Given the description of an element on the screen output the (x, y) to click on. 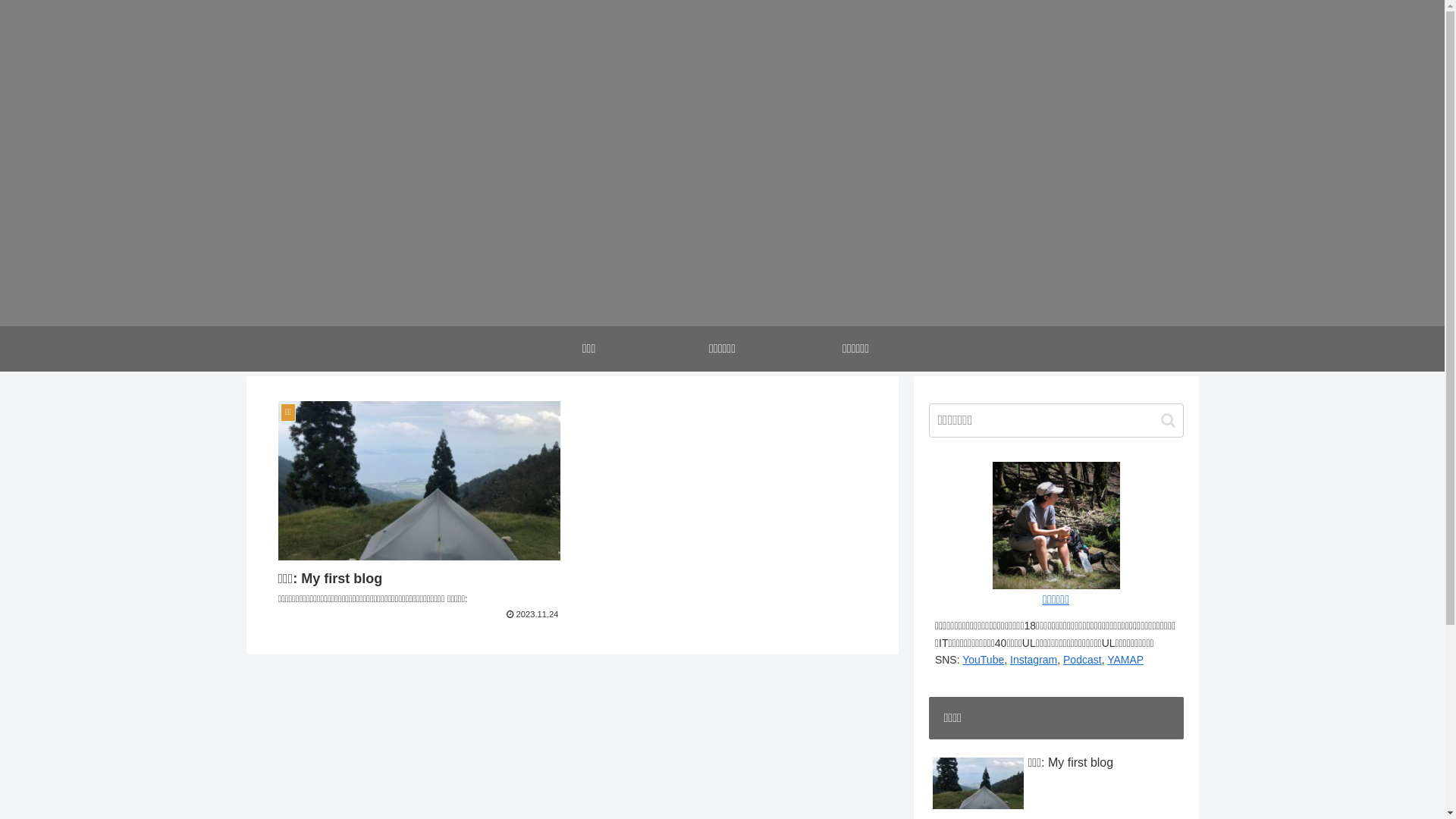
Instagram Element type: text (1033, 659)
YAMAP Element type: text (1125, 659)
Podcast Element type: text (1082, 659)
YouTube Element type: text (983, 659)
